Given the description of an element on the screen output the (x, y) to click on. 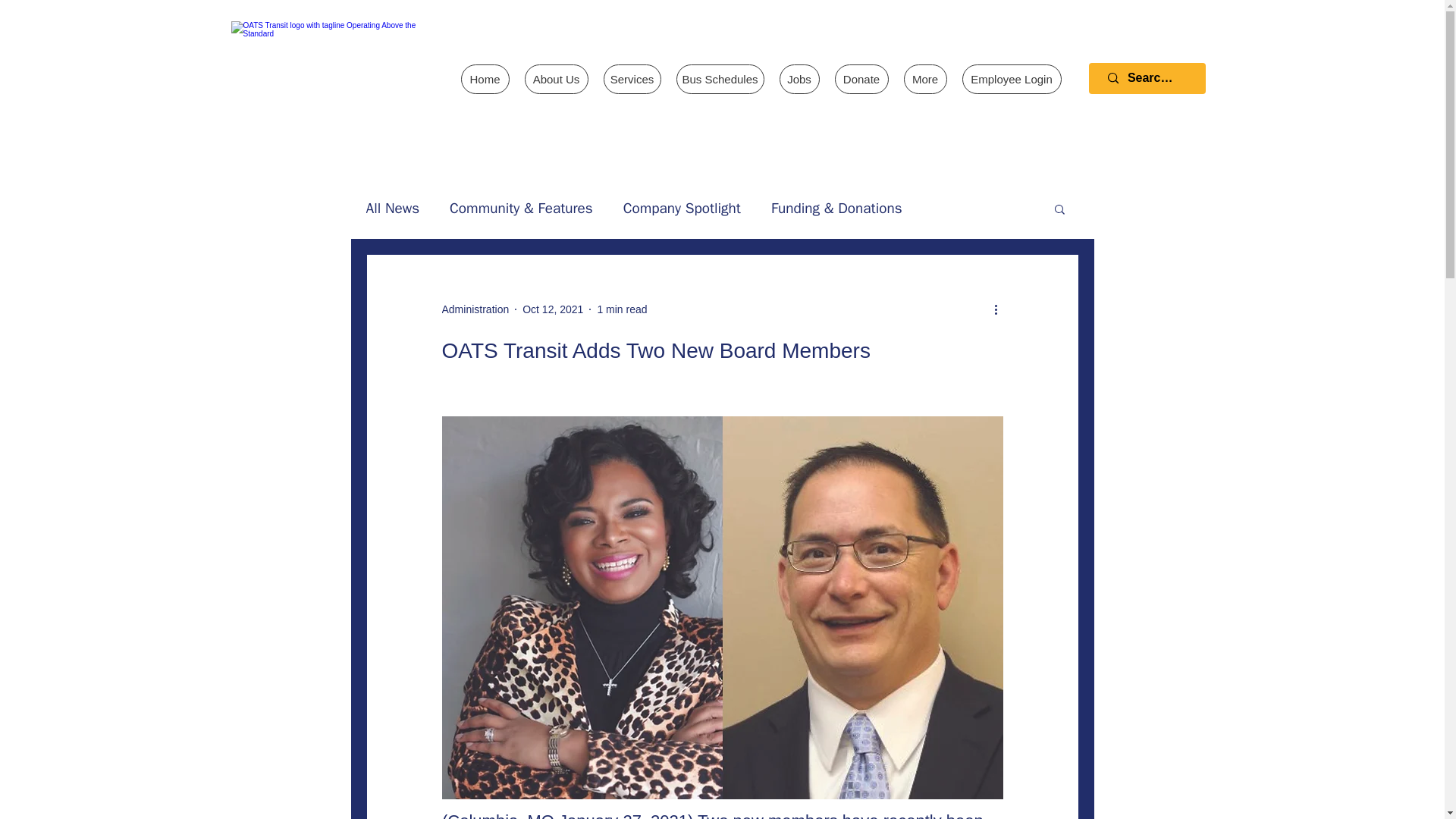
Donate (861, 79)
Company Spotlight (682, 208)
Services (632, 79)
Jobs (798, 79)
Employee Login (1010, 79)
About Us (556, 79)
Bus Schedules (720, 79)
Oct 12, 2021 (552, 309)
Administration  (474, 309)
1 min read (621, 309)
All News (392, 208)
Home (485, 79)
